Given the description of an element on the screen output the (x, y) to click on. 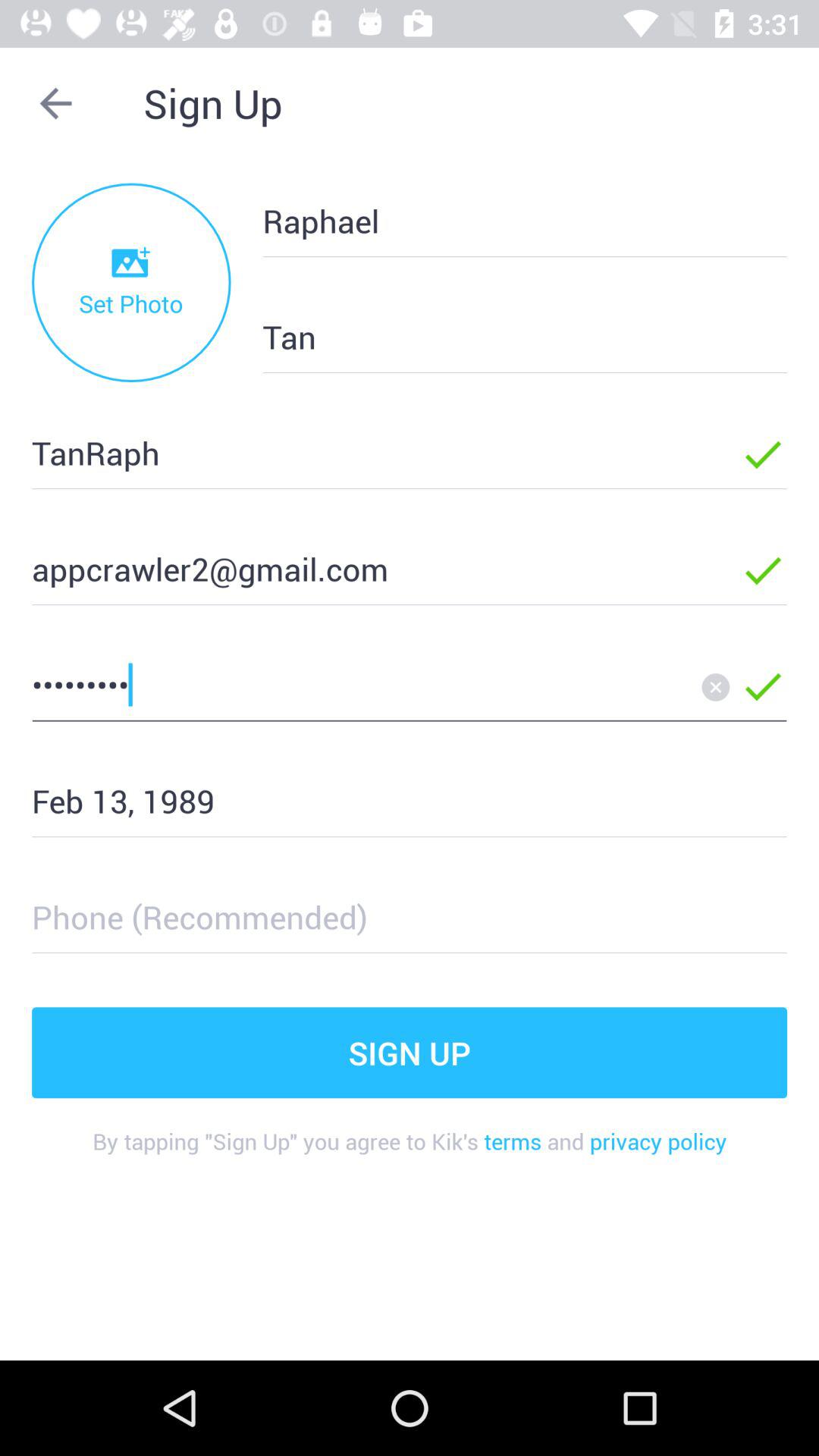
choose icon next to the set photo icon (500, 336)
